Given the description of an element on the screen output the (x, y) to click on. 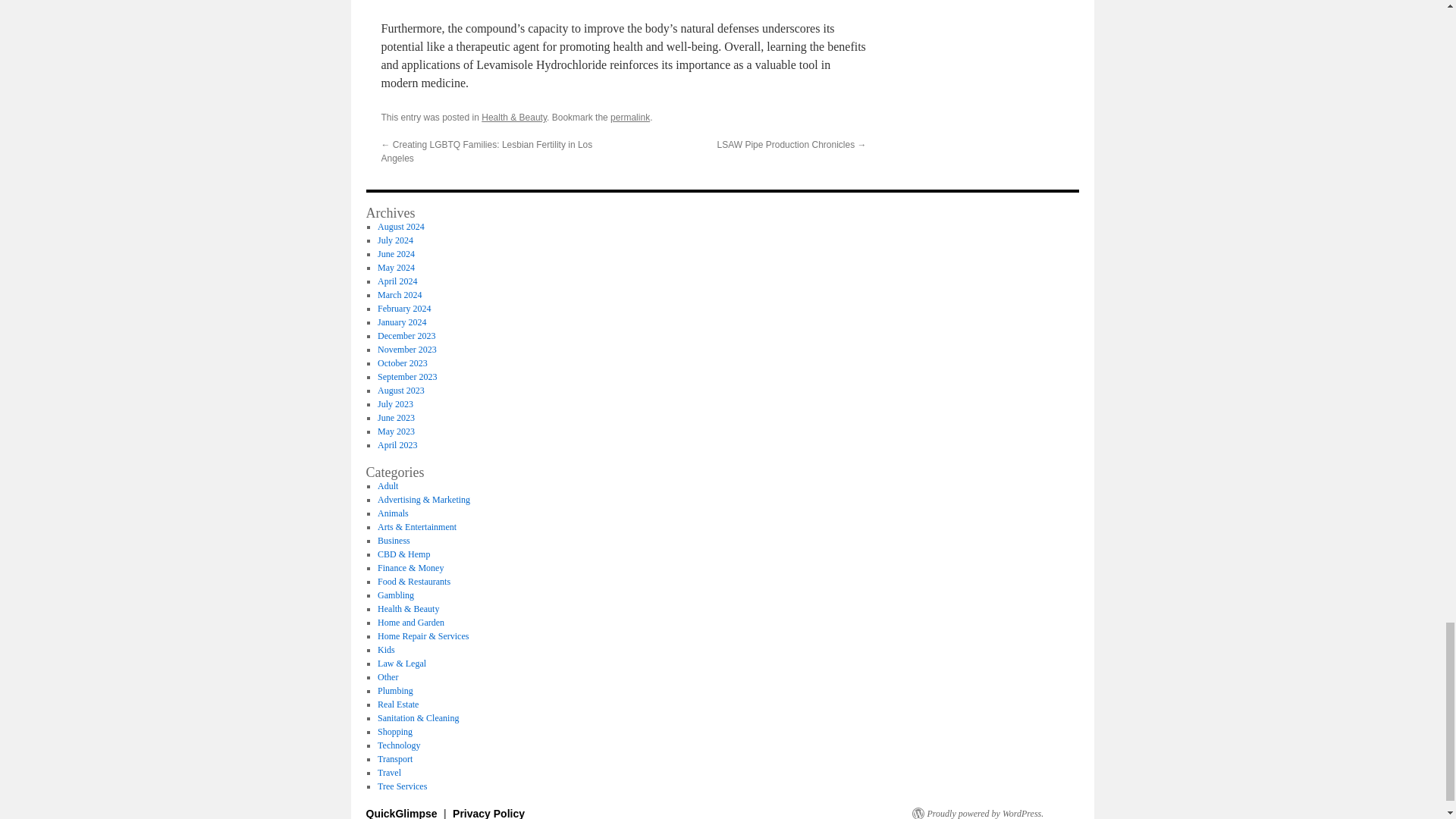
July 2023 (395, 403)
April 2024 (396, 281)
December 2023 (406, 335)
June 2024 (395, 253)
August 2023 (401, 389)
May 2023 (395, 430)
May 2024 (395, 267)
March 2024 (399, 294)
August 2024 (401, 226)
permalink (629, 117)
